Given the description of an element on the screen output the (x, y) to click on. 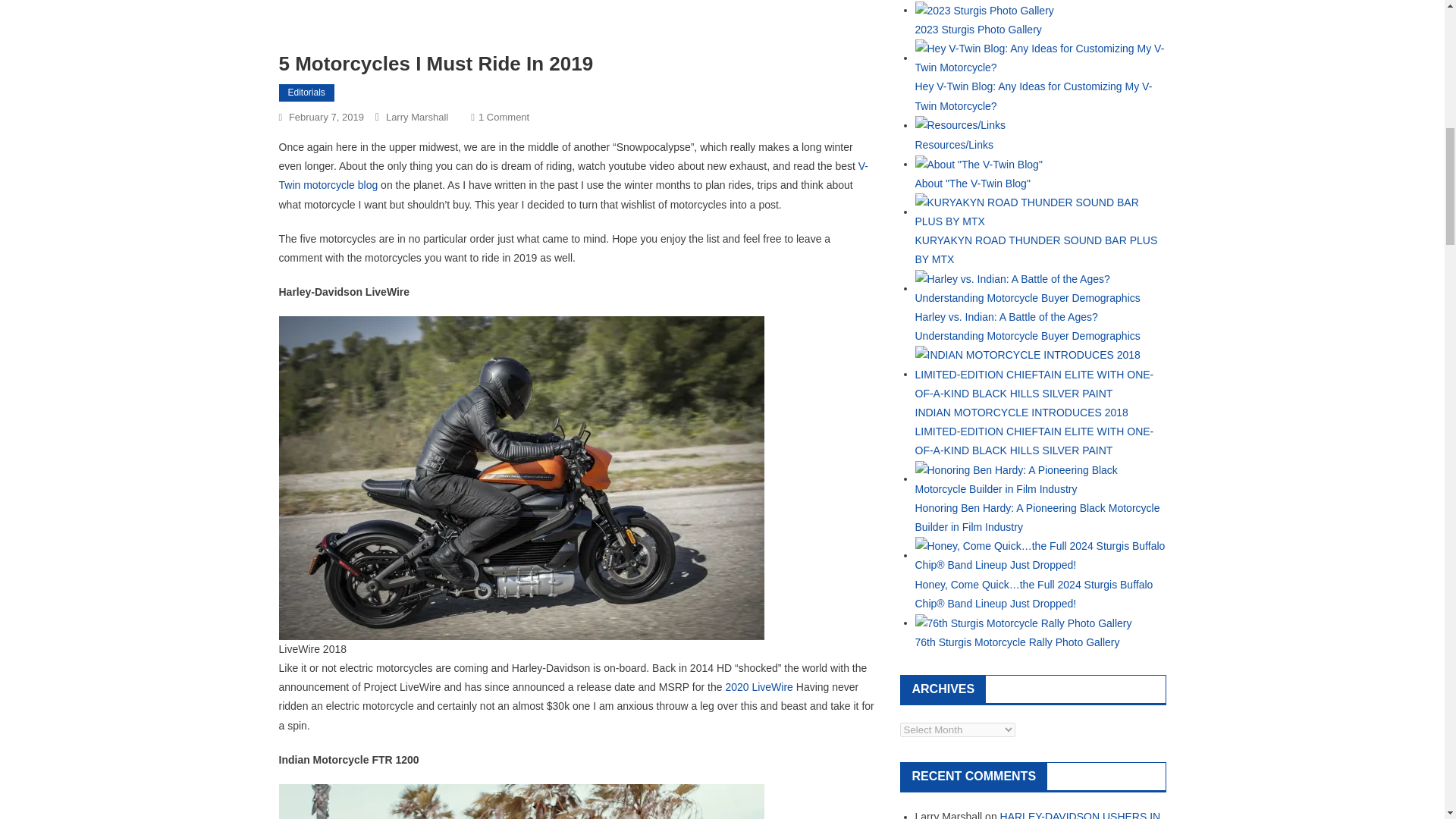
V-Twin motorcycle blog  (574, 174)
About "The V-Twin Blog" (971, 183)
February 7, 2019 (326, 116)
Larry Marshall (416, 116)
2023 Sturgis Photo Gallery (504, 116)
Editorials (983, 9)
2020 LiveWire (306, 93)
